Given the description of an element on the screen output the (x, y) to click on. 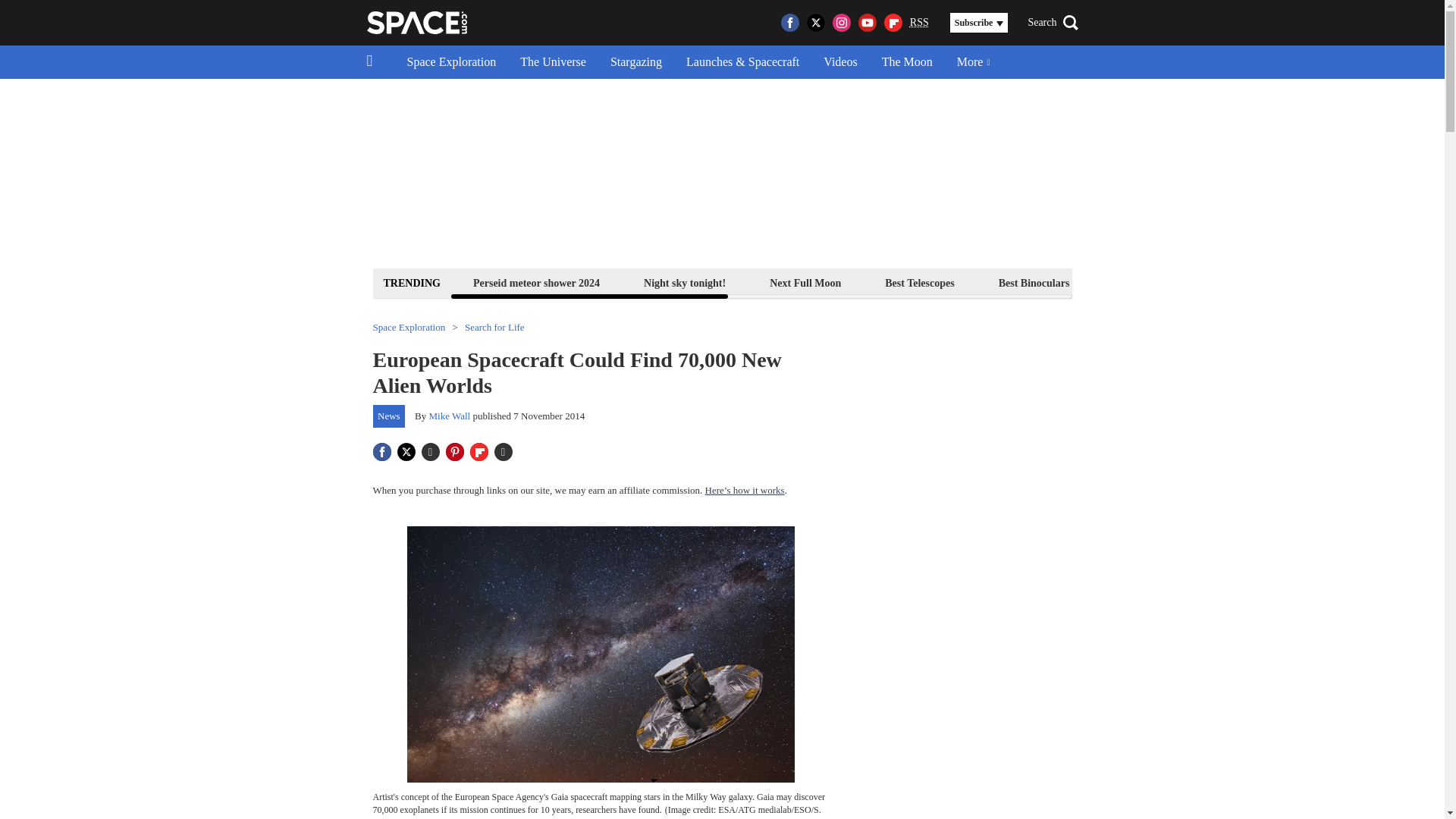
The Universe (553, 61)
Stargazing (636, 61)
RSS (919, 22)
Next Full Moon (804, 282)
Best Star Projectors (1158, 282)
Videos (839, 61)
Best Binoculars (1033, 282)
The Moon (906, 61)
Best Telescopes (919, 282)
Really Simple Syndication (919, 21)
